Given the description of an element on the screen output the (x, y) to click on. 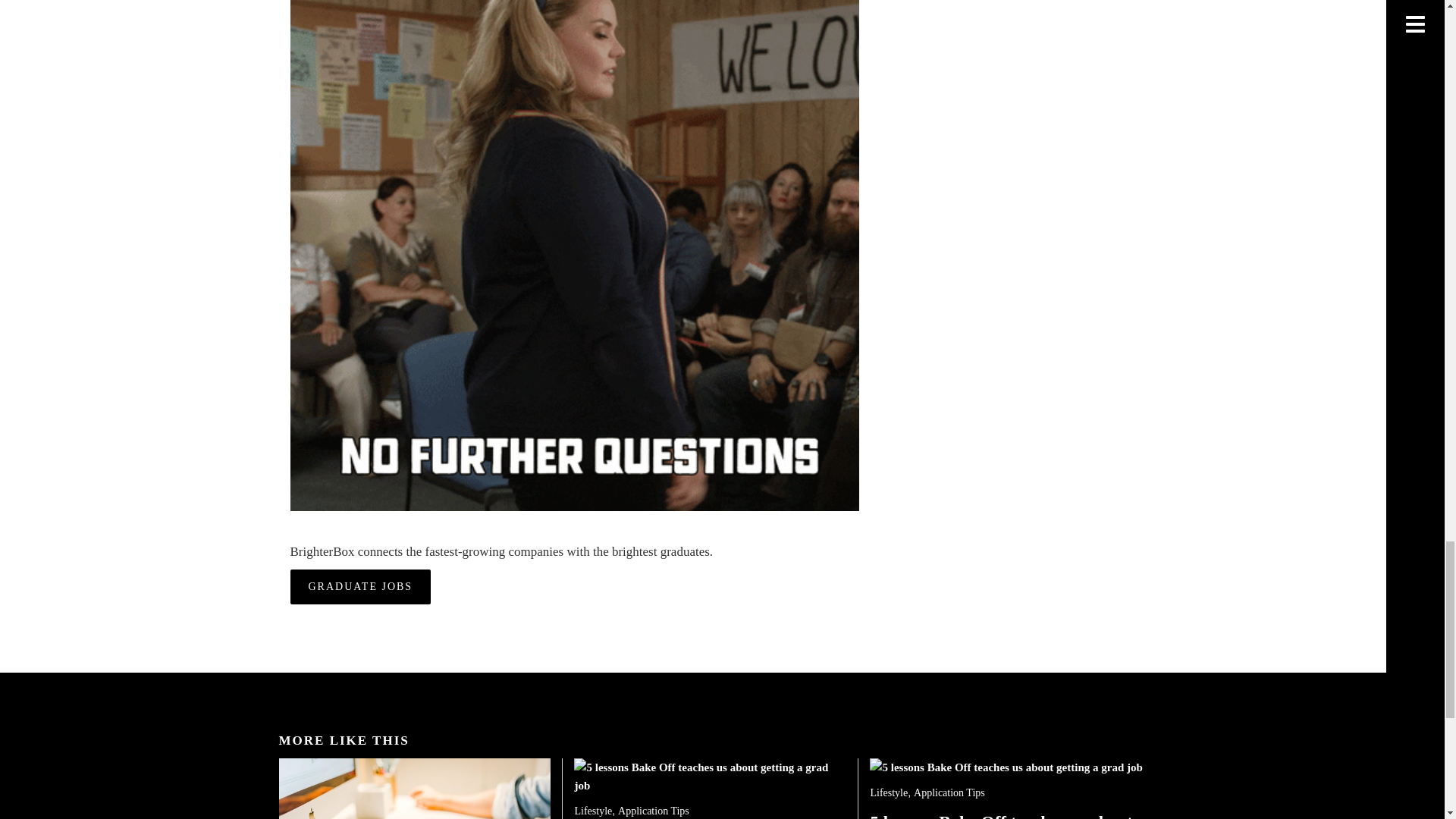
5 lessons Bake Off teaches us about getting a grad job  (1005, 767)
5 lessons Bake Off teaches us about getting a grad job  (709, 776)
GRADUATE JOBS (359, 586)
